Given the description of an element on the screen output the (x, y) to click on. 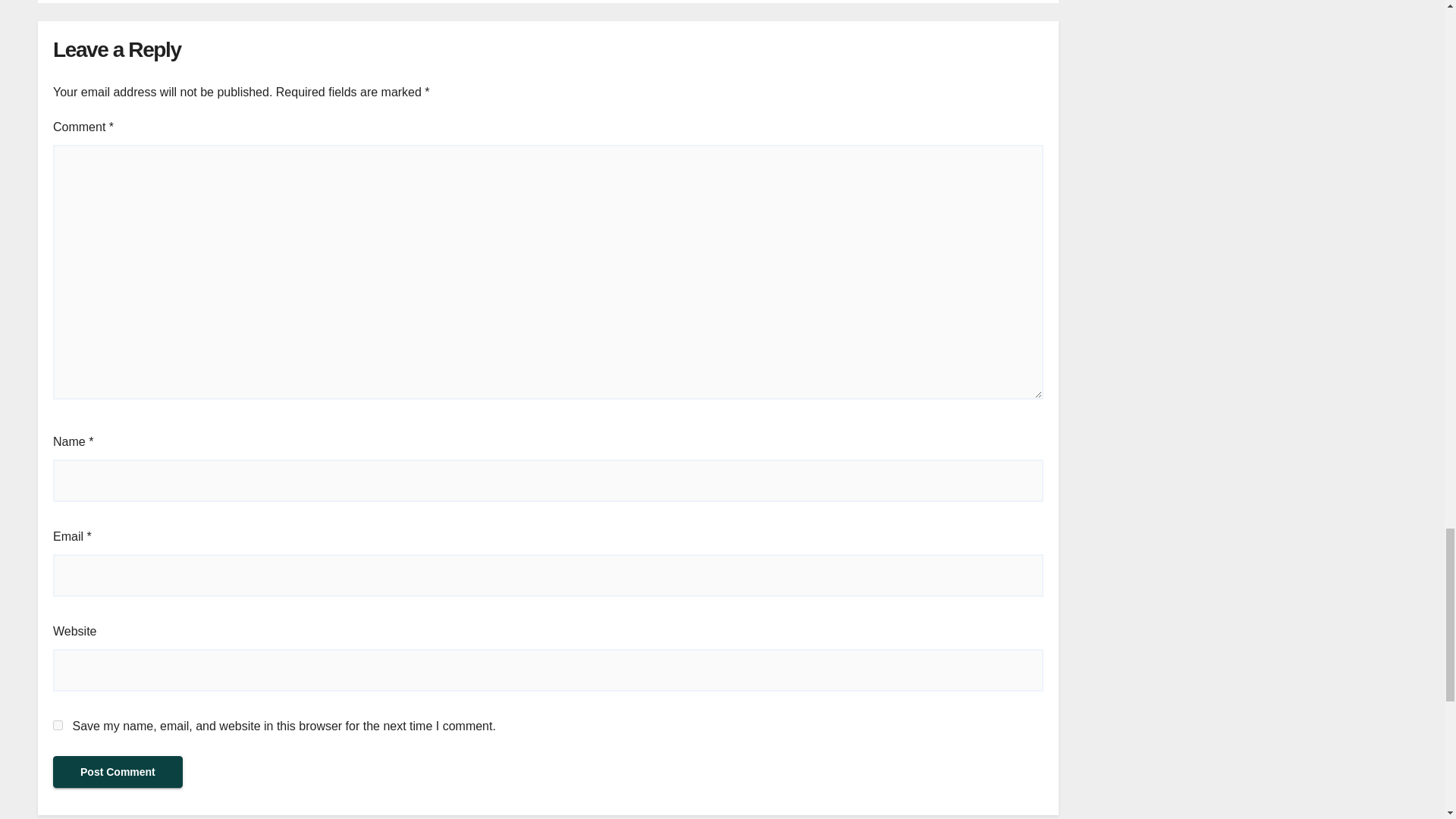
yes (57, 725)
Post Comment (117, 771)
